Given the description of an element on the screen output the (x, y) to click on. 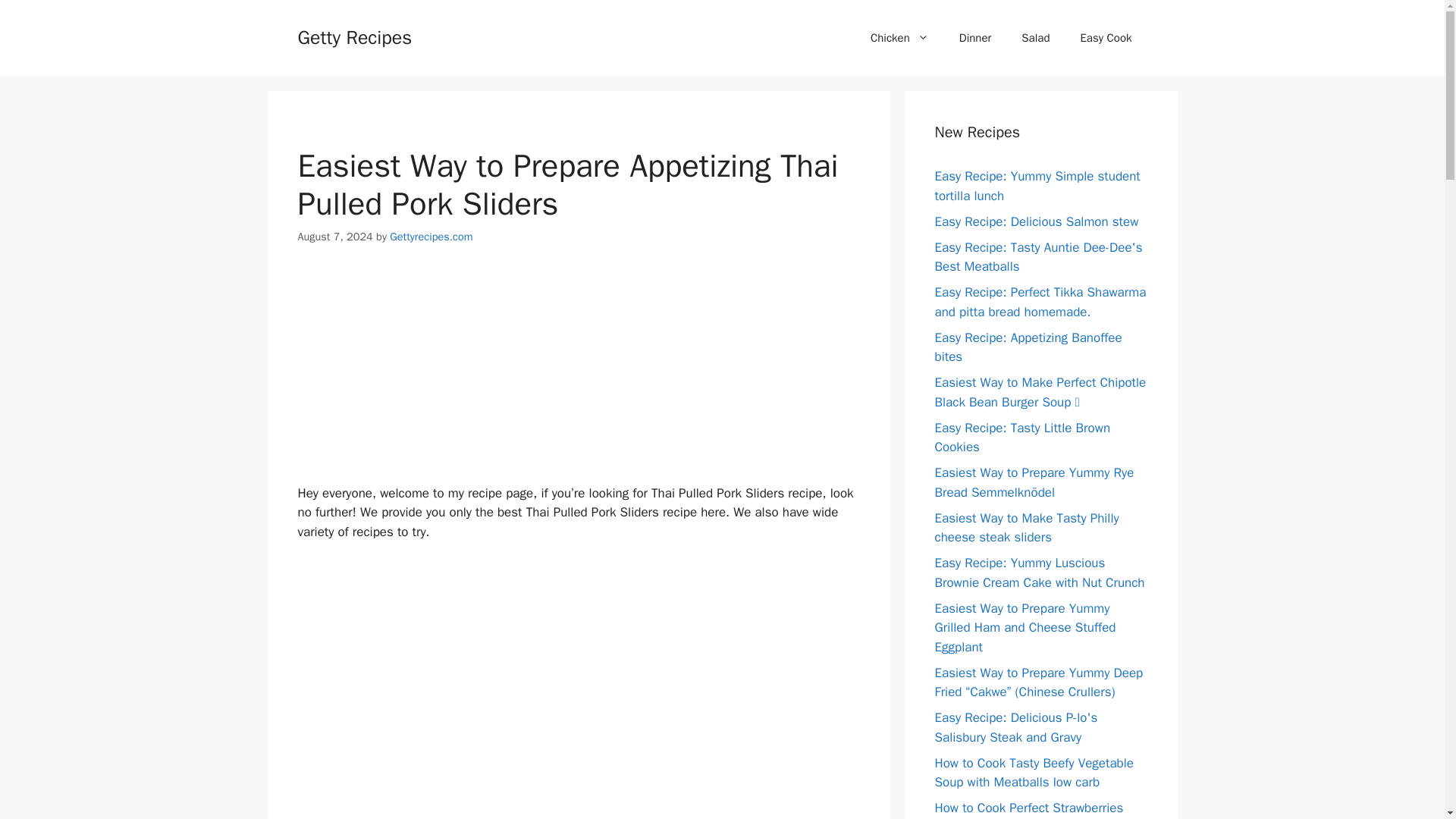
View all posts by Gettyrecipes.com (430, 236)
Easy Recipe: Tasty Auntie Dee-Dee's Best Meatballs (1037, 257)
Getty Recipes (354, 37)
Easy Recipe: Delicious Salmon stew (1036, 221)
Gettyrecipes.com (430, 236)
Easy Recipe: Yummy Simple student tortilla lunch (1037, 185)
Advertisement (578, 667)
Easy Recipe: Appetizing Banoffee bites (1027, 346)
Chicken (899, 37)
